Given the description of an element on the screen output the (x, y) to click on. 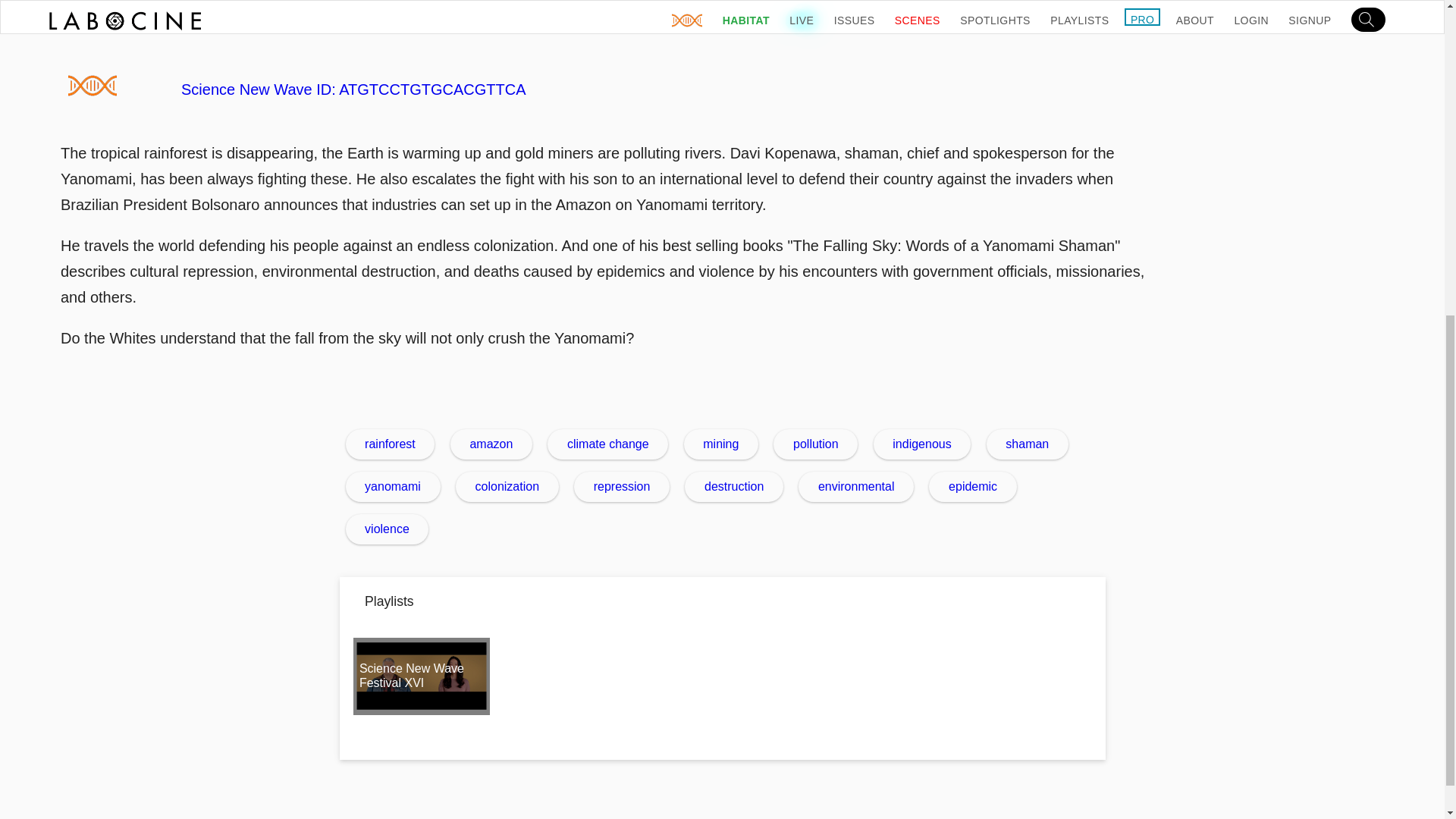
amazon (490, 444)
pollution (815, 444)
climate change (607, 444)
Science New Wave ID: ATGTCCTGTGCACGTTCA (614, 89)
mining (721, 444)
rainforest (390, 444)
